Given the description of an element on the screen output the (x, y) to click on. 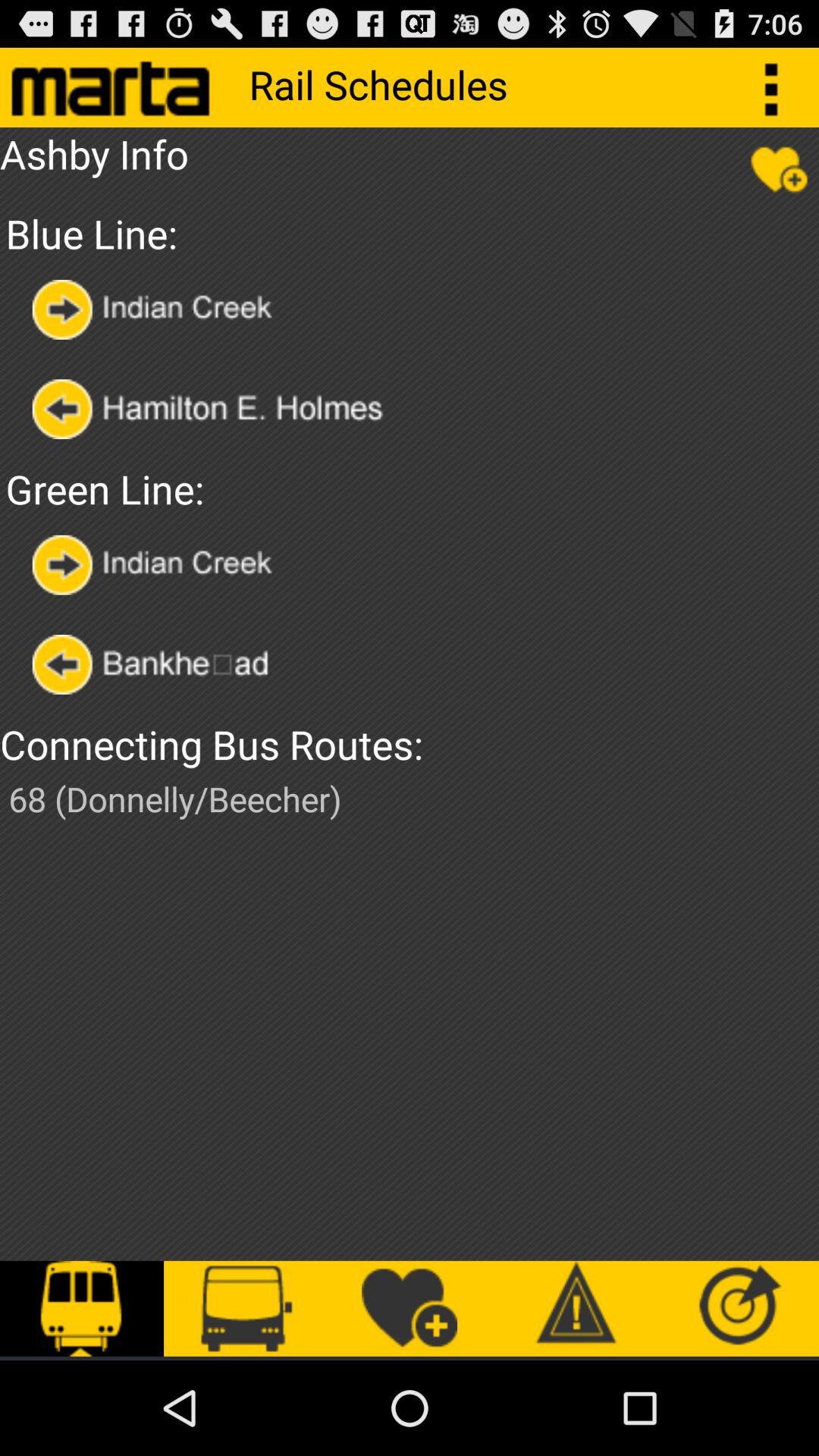
check the schedule (163, 664)
